Given the description of an element on the screen output the (x, y) to click on. 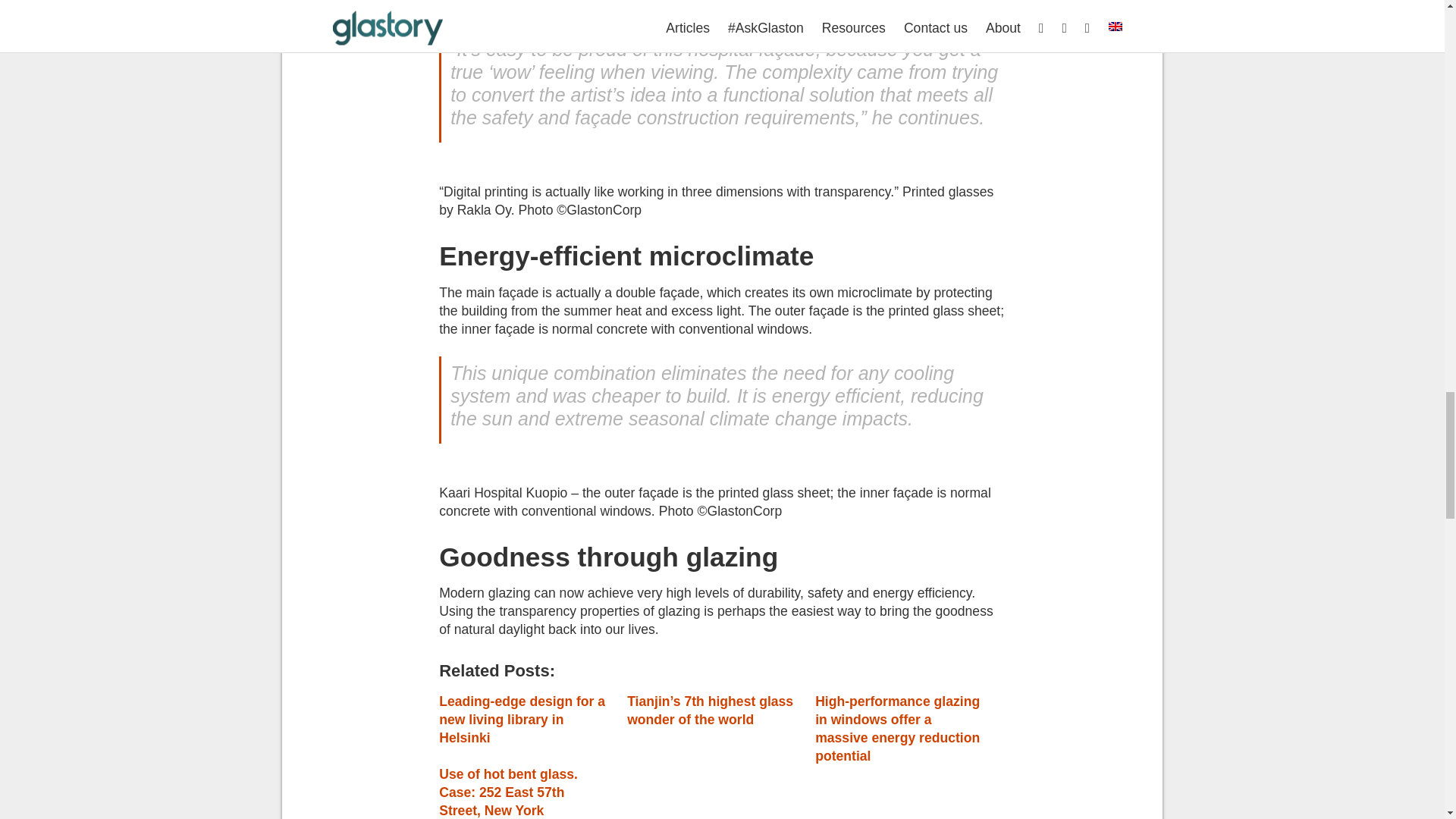
Use of hot bent glass. Case: 252 East 57th Street, New York (508, 792)
Leading-edge design for a new living library in Helsinki (522, 719)
Use of hot bent glass. Case: 252 East 57th Street, New York (508, 792)
Leading-edge design for a new living library in Helsinki (522, 719)
